Given the description of an element on the screen output the (x, y) to click on. 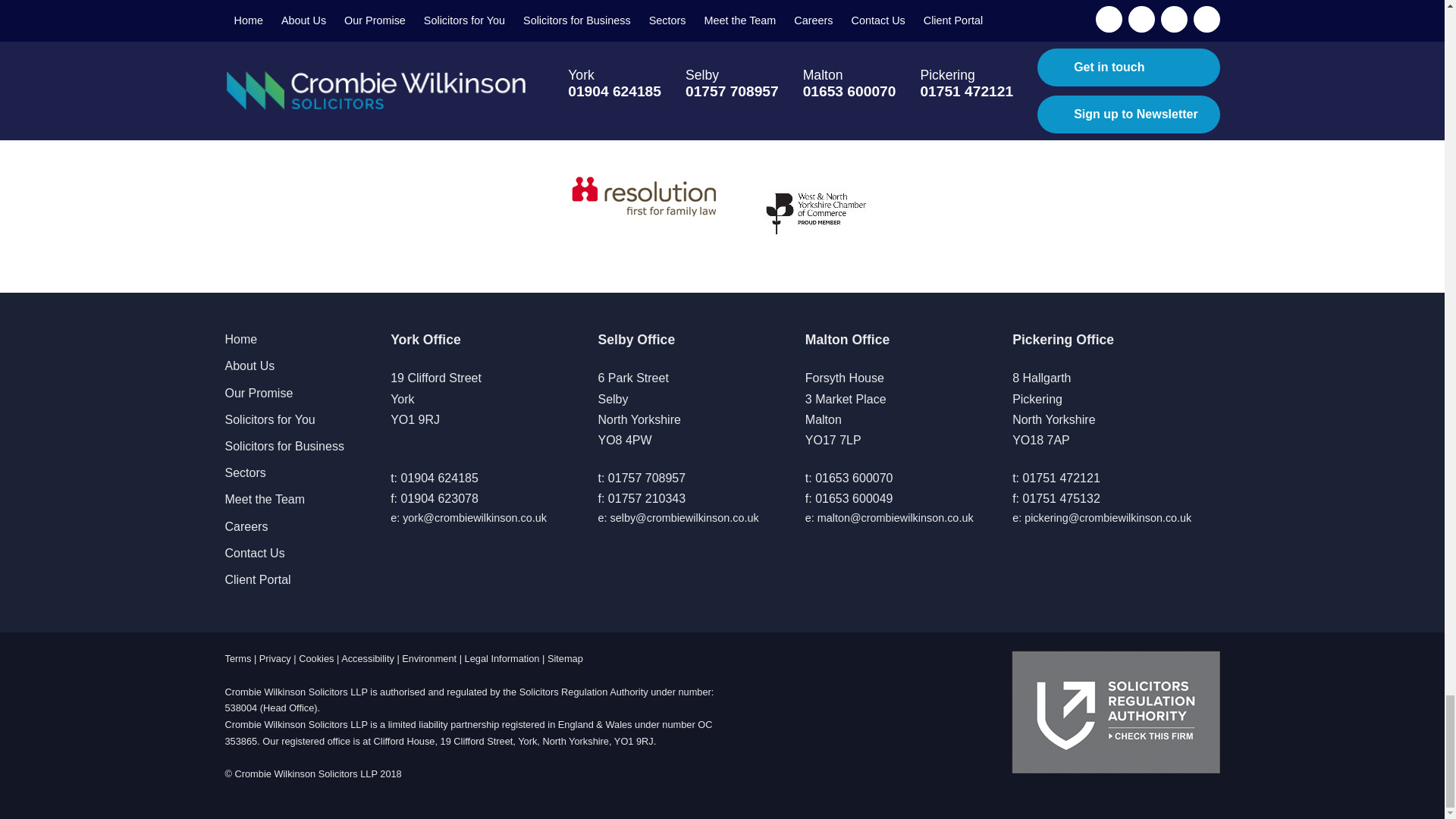
Solicitors Regulation Authority (1115, 711)
